Given the description of an element on the screen output the (x, y) to click on. 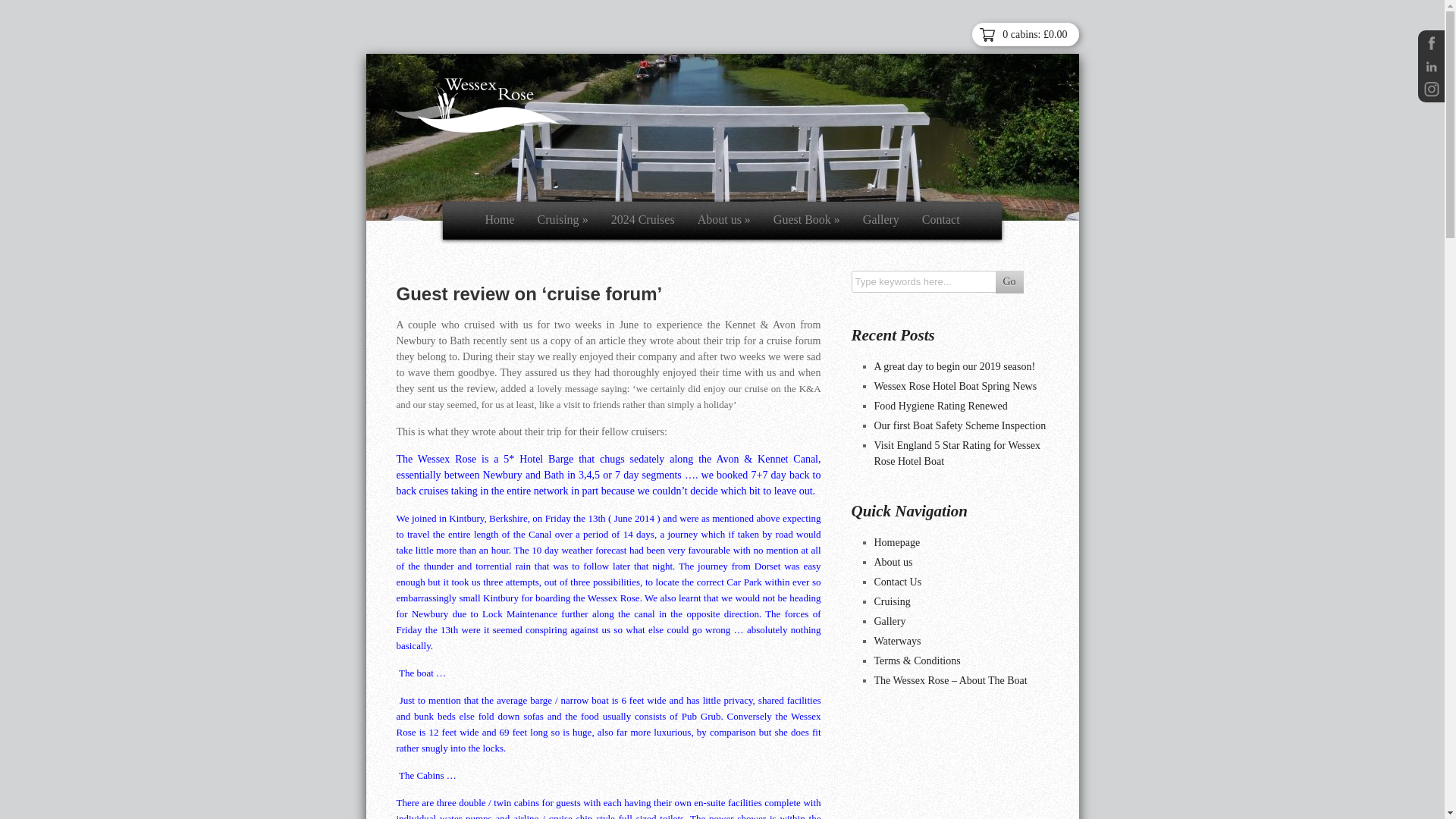
2024 Cruises (642, 221)
About us (892, 562)
Contact (941, 221)
Wessex Rose Hotel Boat (486, 106)
Home (499, 221)
Wessex Rose on Facebook (1431, 43)
A great day to begin our 2019 season! (954, 366)
Gallery (889, 621)
Wessex Rose Hotel Boat Spring News (954, 386)
Wessex Rose on Instagram (1431, 88)
